Given the description of an element on the screen output the (x, y) to click on. 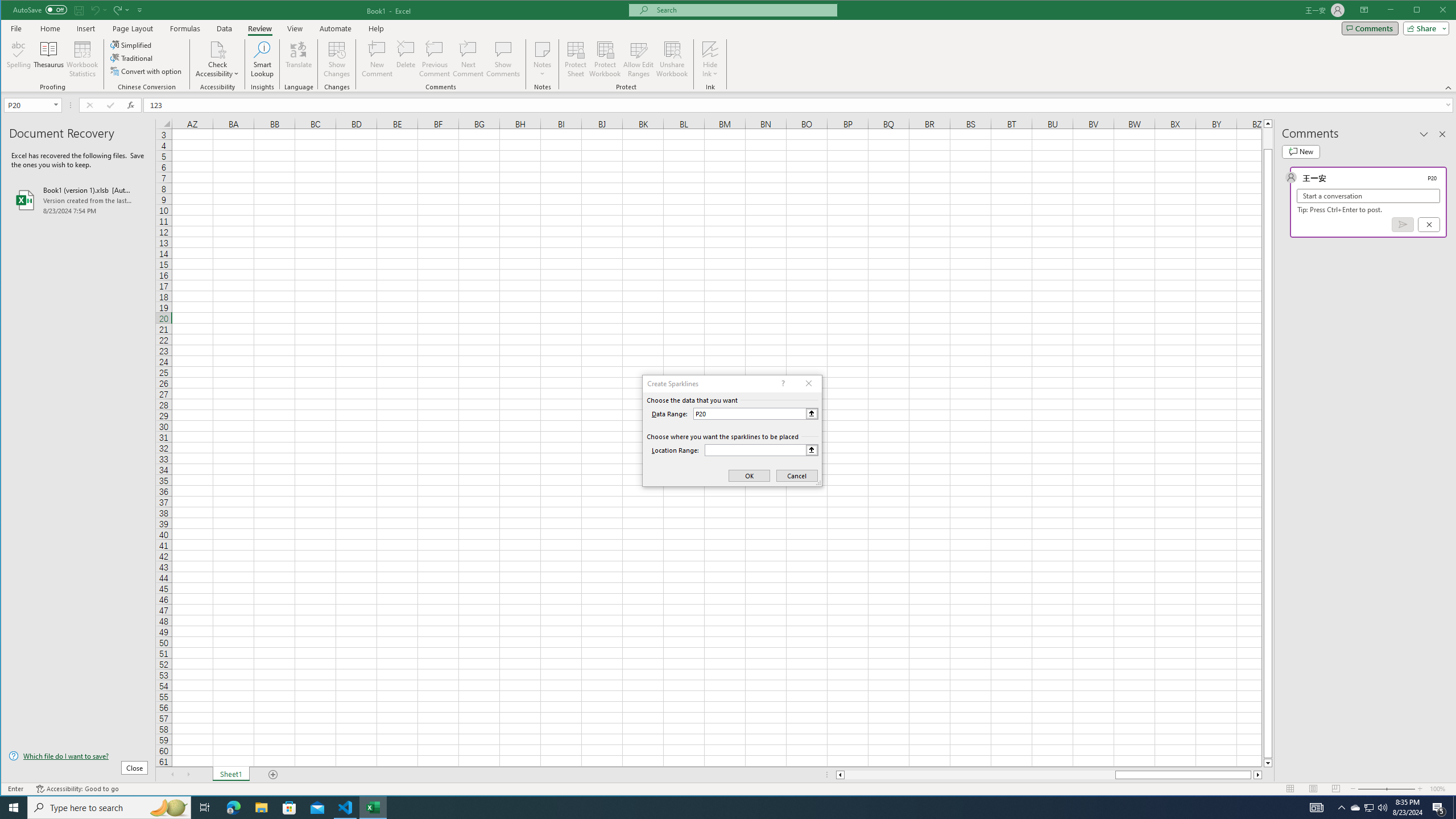
Post comment (Ctrl + Enter) (1402, 224)
Traditional (132, 57)
New Comment (377, 59)
Thesaurus... (48, 59)
Maximize (1432, 11)
New comment (1300, 151)
Hide Ink (710, 59)
Protect Workbook... (604, 59)
